Given the description of an element on the screen output the (x, y) to click on. 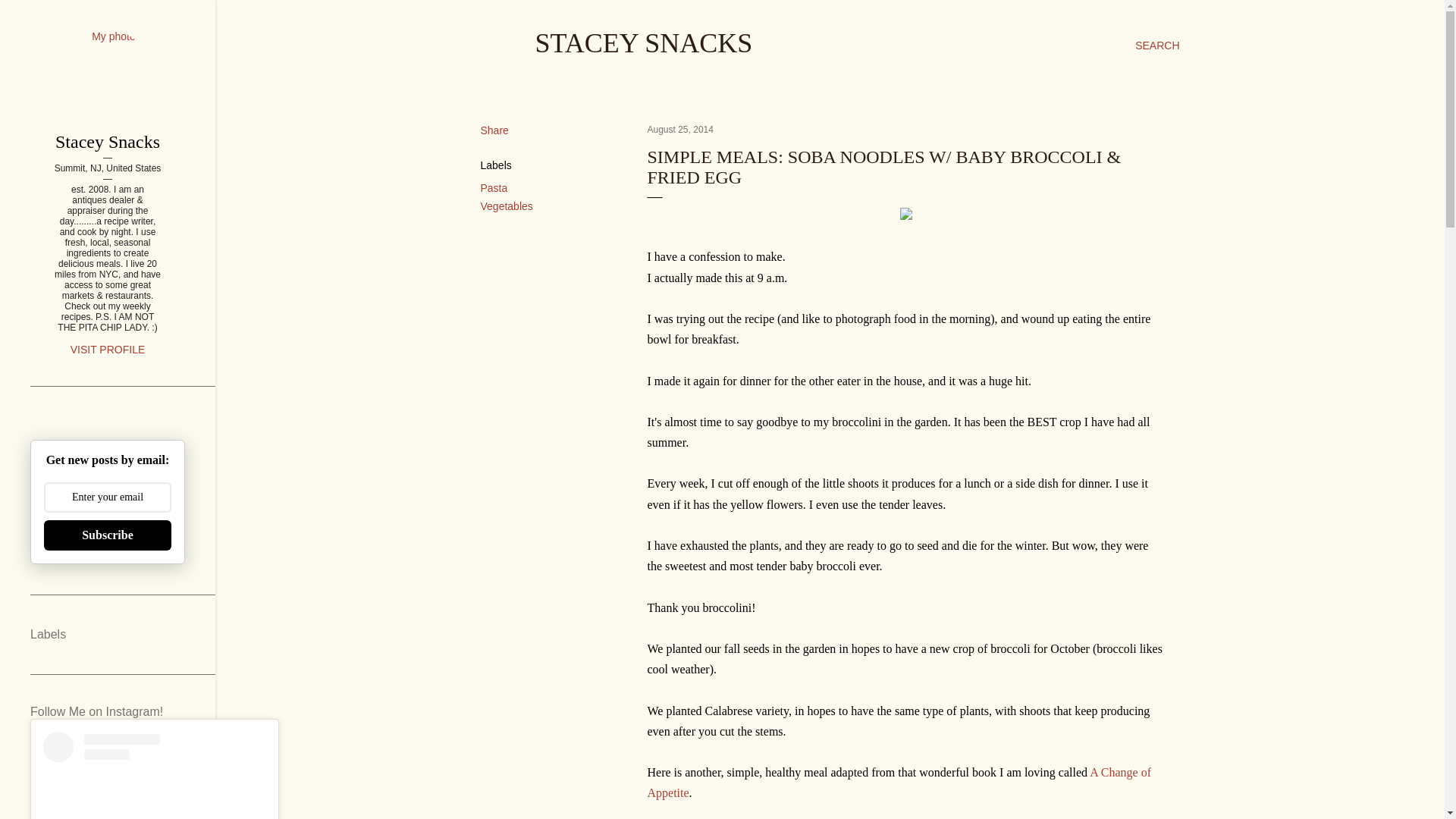
STACEY SNACKS (643, 42)
Stacey Snacks (107, 141)
VISIT PROFILE (107, 349)
A Change of Appetite (899, 782)
Share (494, 130)
Subscribe (107, 535)
Pasta (494, 187)
SEARCH (1157, 45)
August 25, 2014 (680, 129)
permanent link (680, 129)
